Given the description of an element on the screen output the (x, y) to click on. 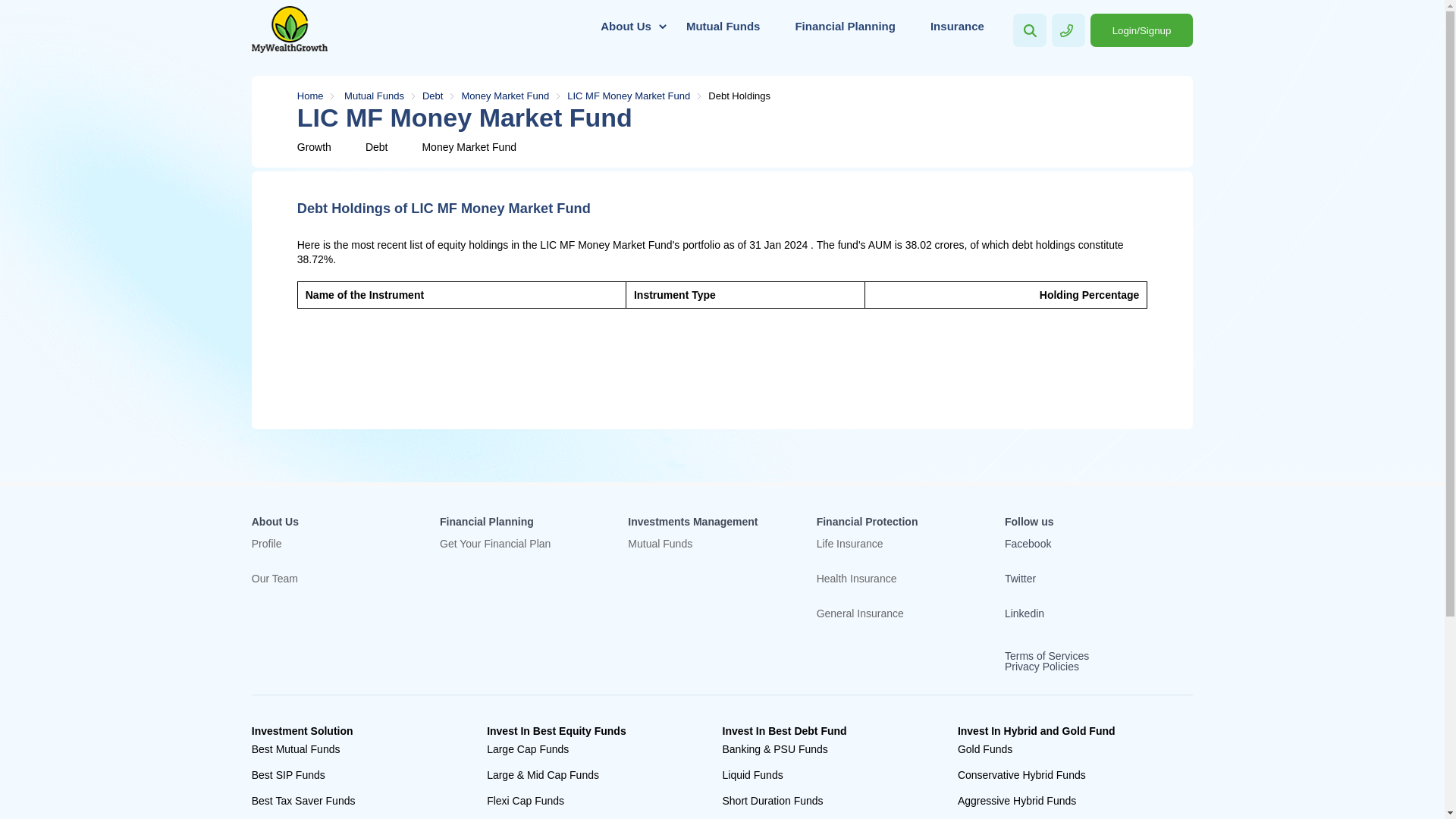
LIC MF Money Market Fund (637, 95)
Best Tax Saver Funds (357, 800)
Facebook (1075, 543)
Twitter (1075, 578)
MyWealthGrowth.com (289, 29)
Debt (441, 95)
Mutual Funds (382, 95)
About Us (625, 26)
Multi Cap Funds (592, 816)
Large Cap Funds (592, 749)
MyWealthGrowth.com (289, 30)
Home (319, 95)
General Insurance (898, 625)
Money Market Fund (469, 146)
Get Your Financial Plan (522, 555)
